Given the description of an element on the screen output the (x, y) to click on. 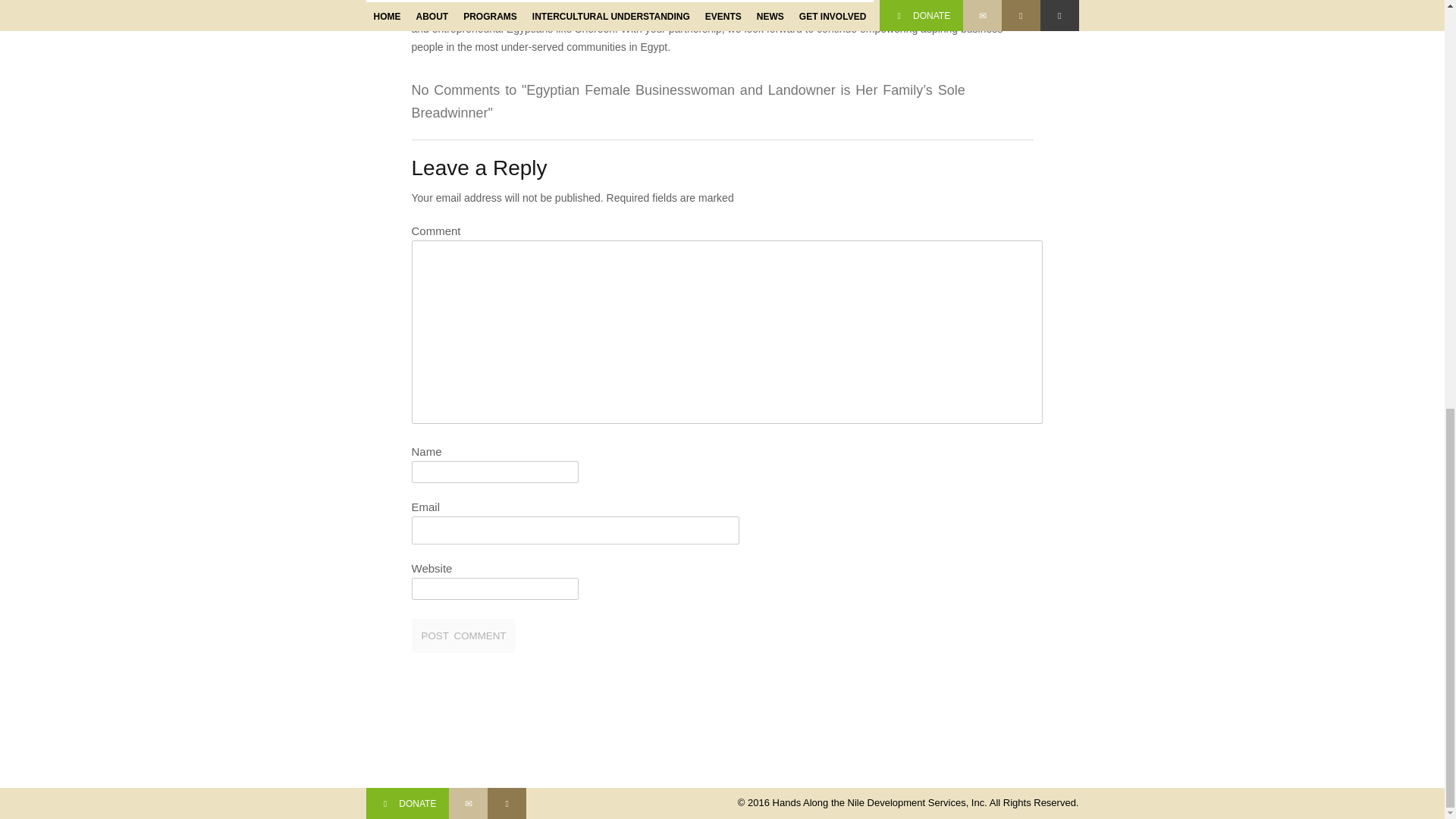
Post Comment (462, 635)
